Given the description of an element on the screen output the (x, y) to click on. 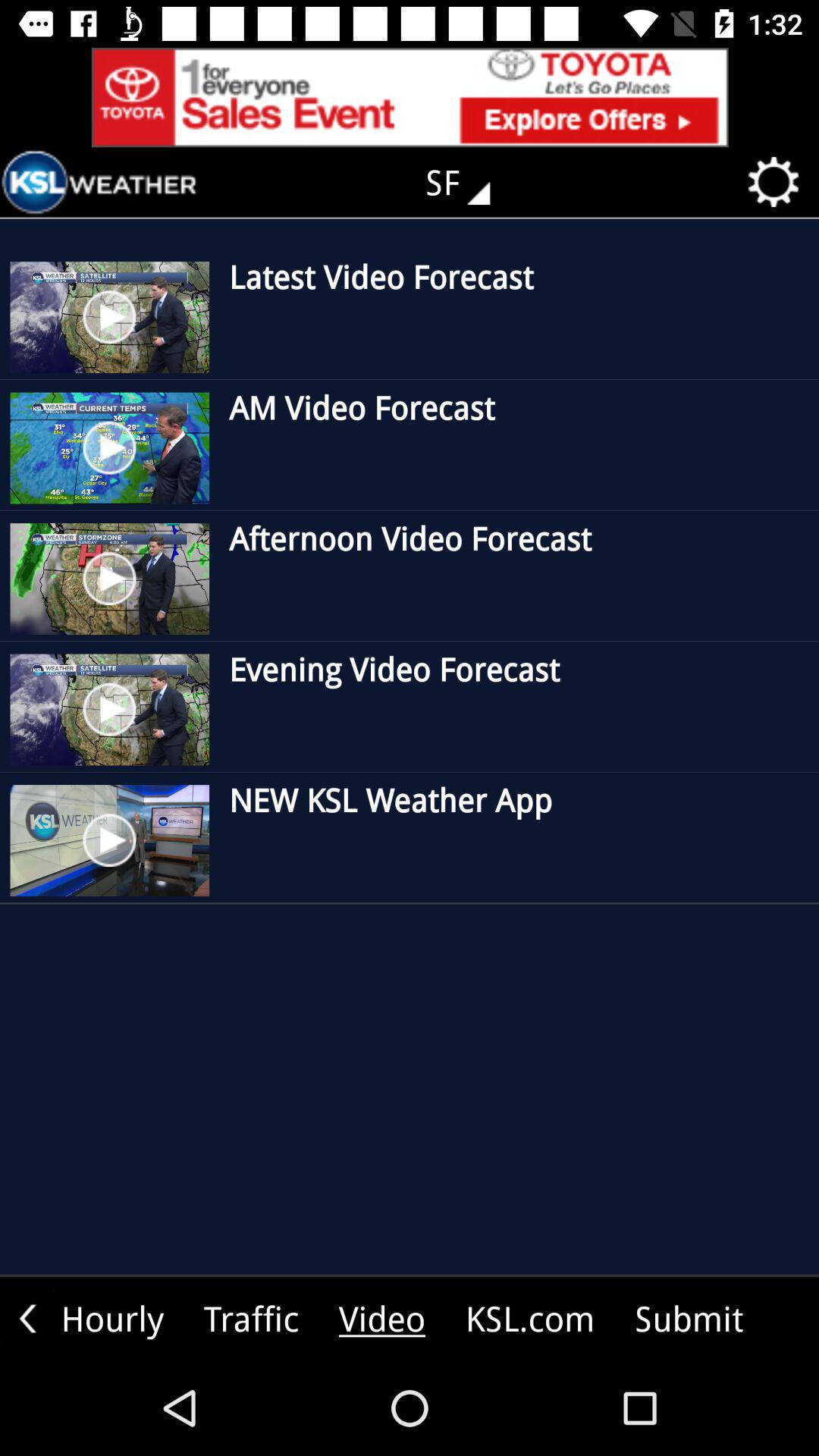
open advertisement (409, 97)
